Given the description of an element on the screen output the (x, y) to click on. 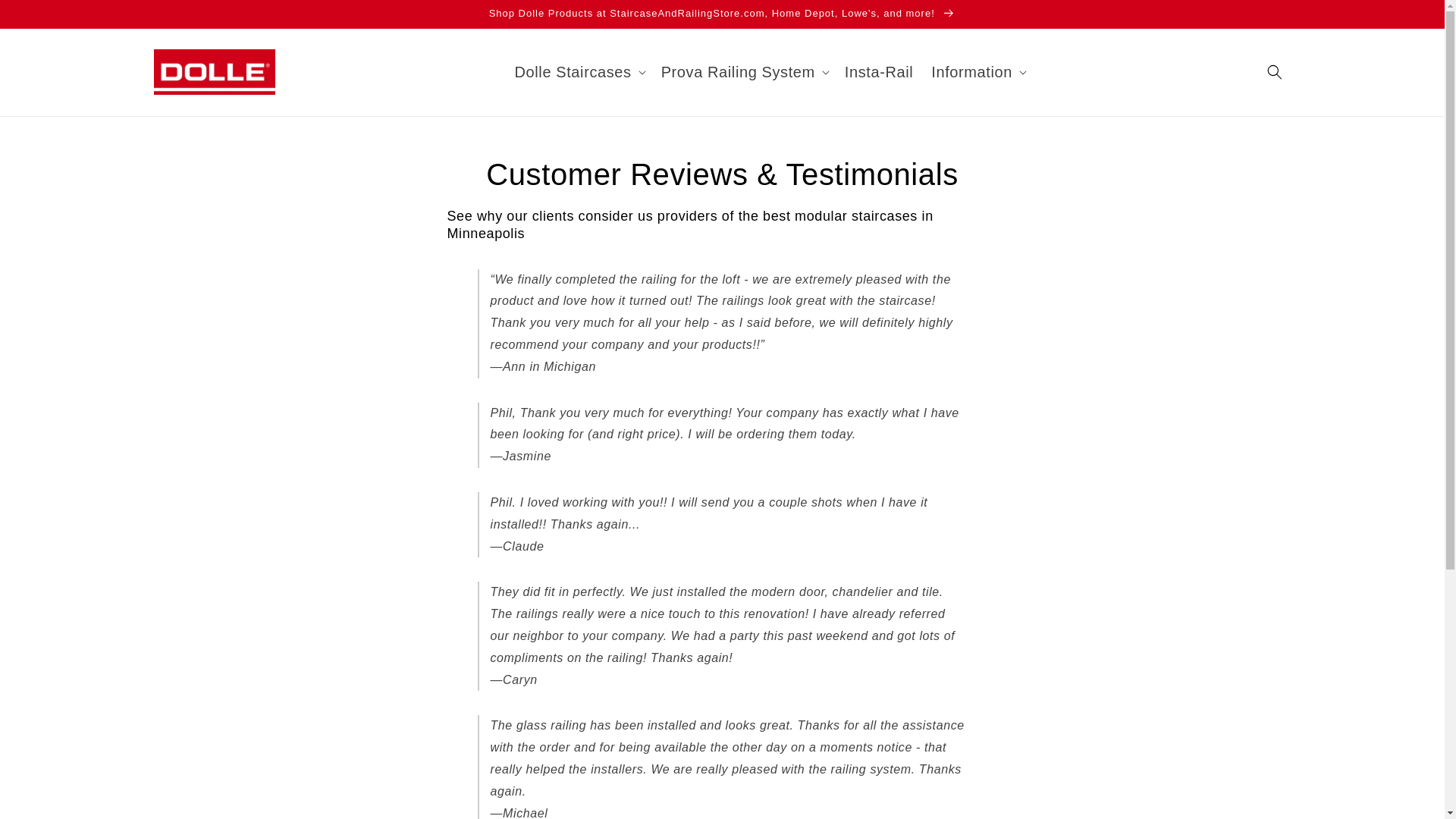
Insta-Rail (878, 71)
Skip to content (45, 16)
